Given the description of an element on the screen output the (x, y) to click on. 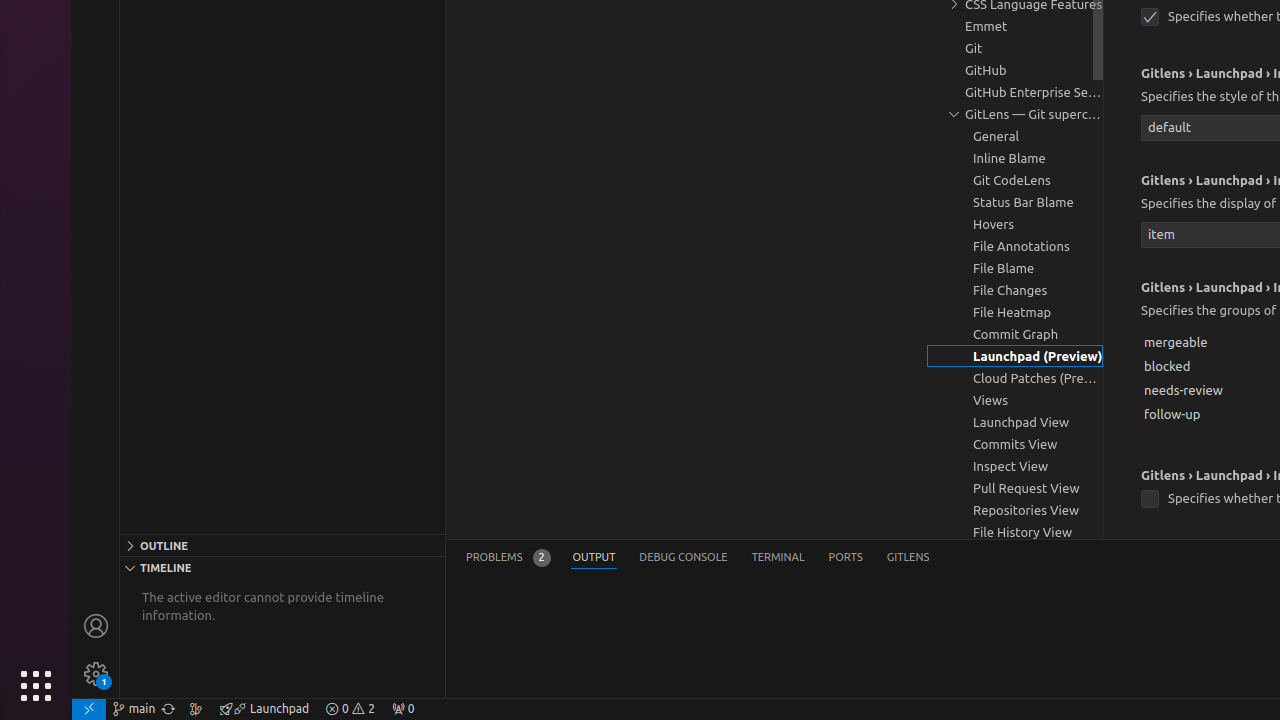
Show the GitLens Commit Graph Element type: push-button (196, 709)
remote Element type: push-button (89, 709)
Commit Graph, group Element type: tree-item (1015, 334)
GitHub Enterprise Server Authentication Provider, group Element type: tree-item (1015, 92)
gitlens.launchpad.indicator.enabled Element type: check-box (1150, 17)
